Given the description of an element on the screen output the (x, y) to click on. 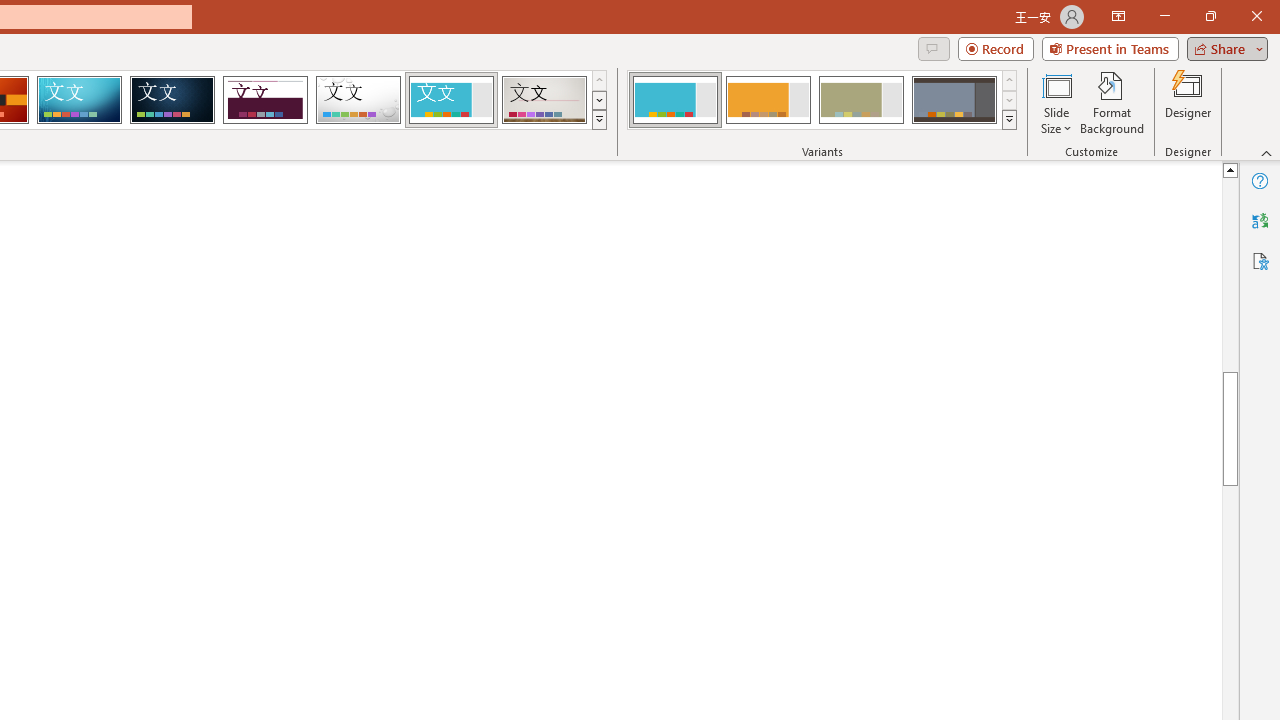
Dividend (265, 100)
Frame Variant 2 (768, 100)
TextBox 7 (1213, 288)
Slide Size (1056, 102)
Frame (450, 100)
Variants (1009, 120)
Frame Variant 3 (861, 100)
